Given the description of an element on the screen output the (x, y) to click on. 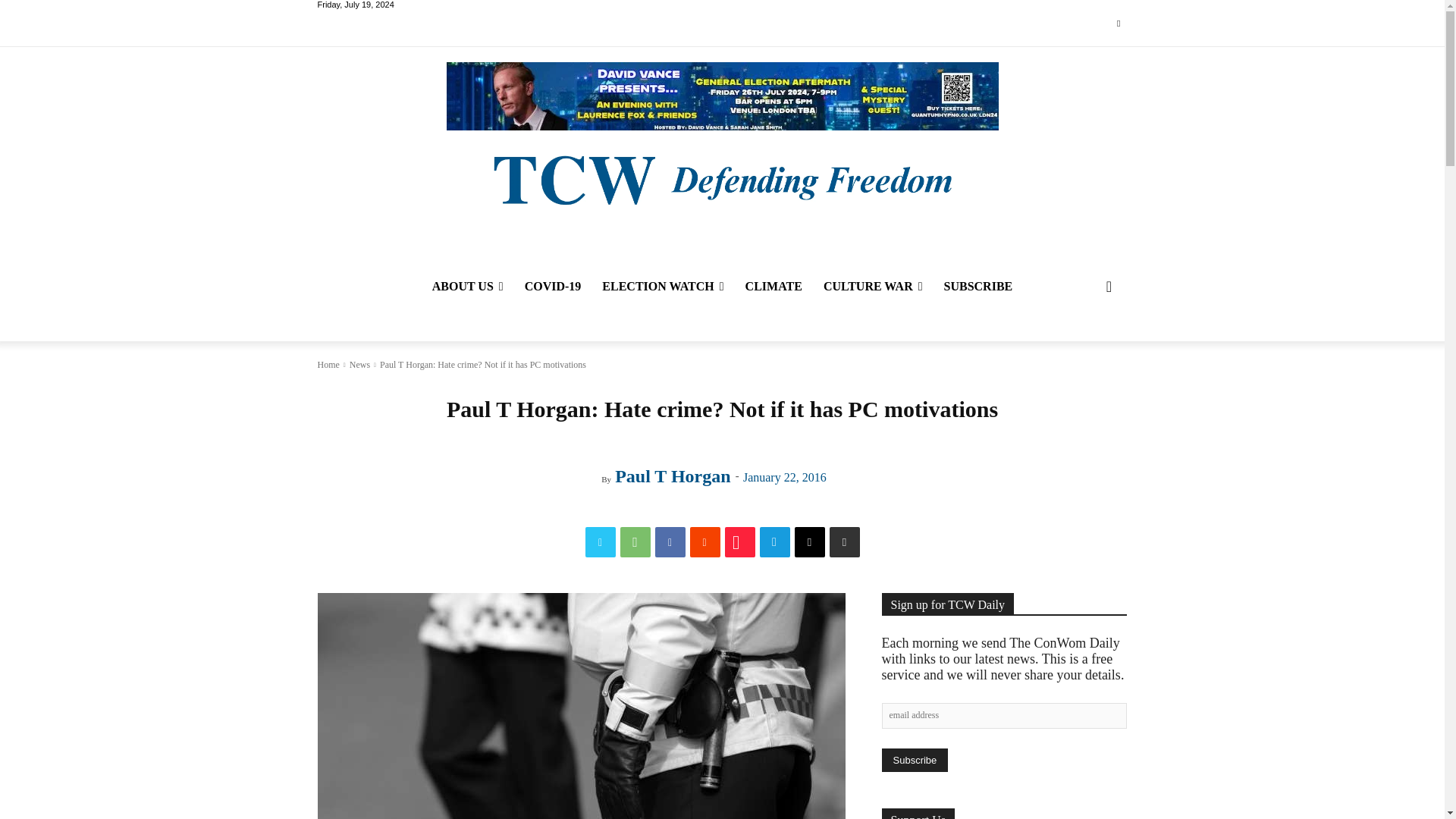
ELECTION WATCH (662, 286)
Gettr (740, 542)
Telegram (775, 542)
View all posts in News (359, 364)
CLIMATE (773, 286)
ABOUT US (467, 286)
Facebook (670, 542)
ReddIt (705, 542)
The Conservative Woman (721, 178)
Subscribe (913, 760)
WhatsApp (635, 542)
Twitter (1117, 23)
Twitter (600, 542)
COVID-19 (552, 286)
